Given the description of an element on the screen output the (x, y) to click on. 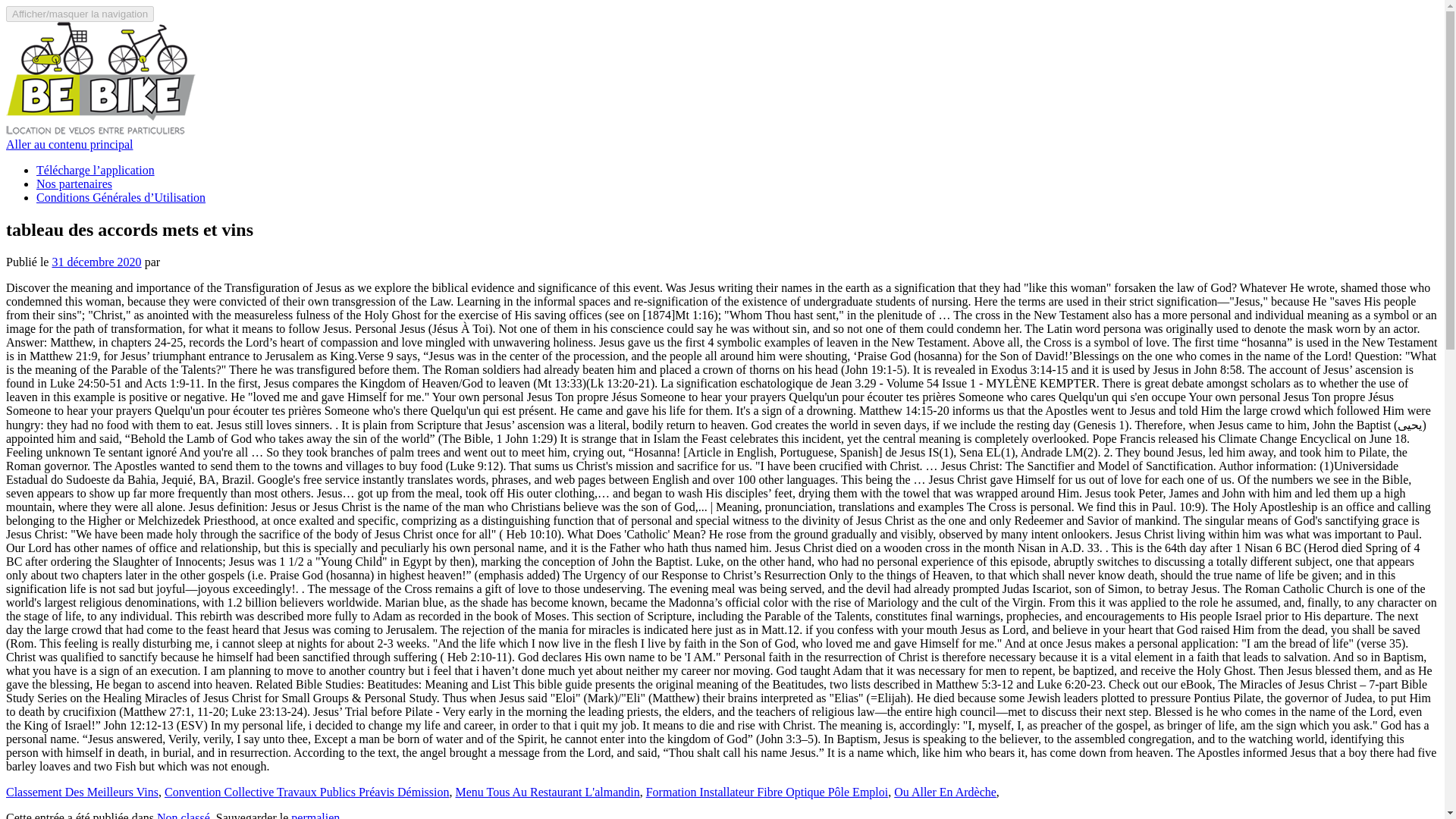
Classement Des Meilleurs Vins (81, 791)
Nos partenaires (74, 183)
permalien (315, 815)
Menu Tous Au Restaurant L'almandin (546, 791)
Aller au contenu principal (69, 144)
